Given the description of an element on the screen output the (x, y) to click on. 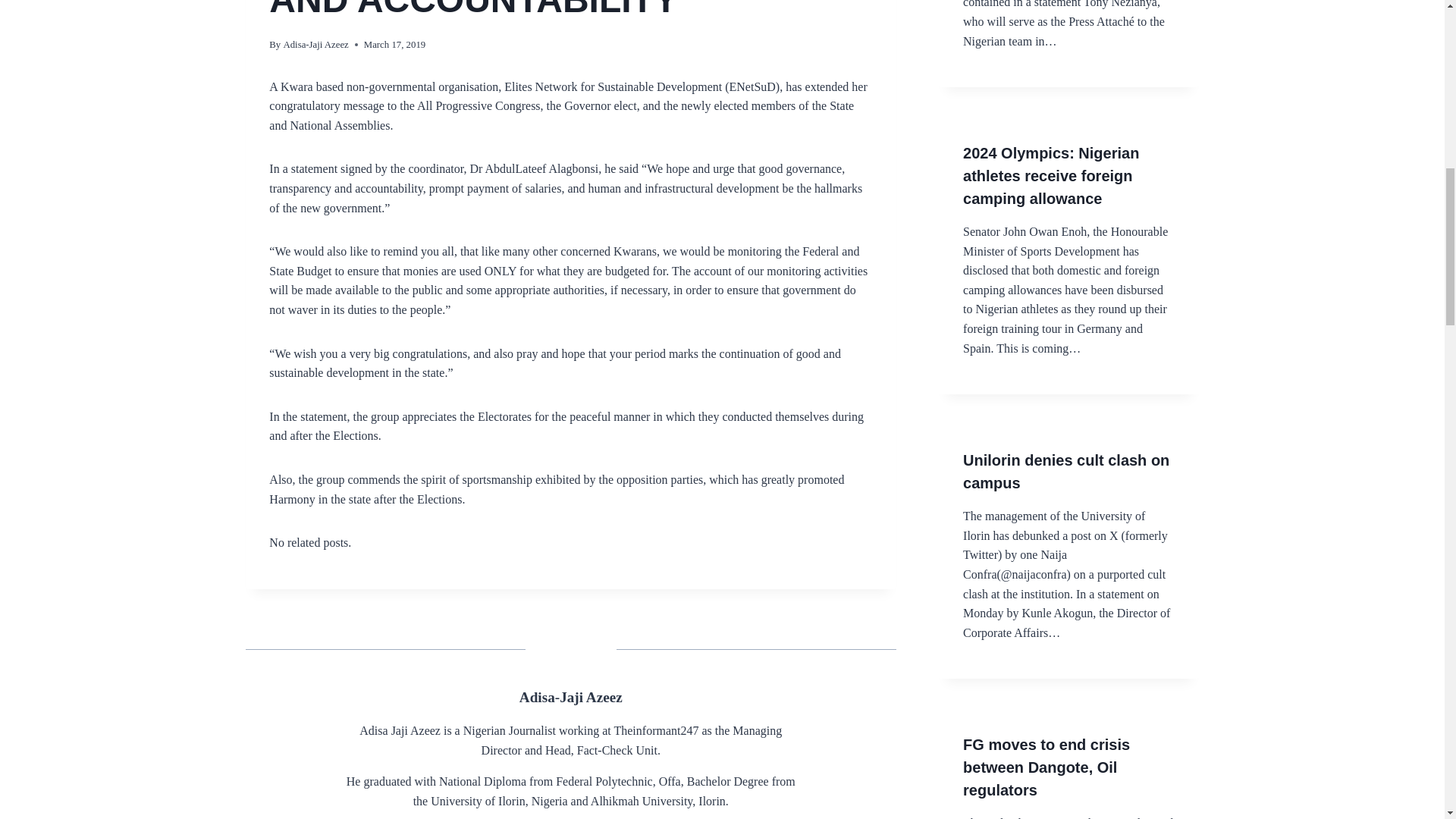
Adisa-Jaji Azeez (571, 697)
Adisa-Jaji Azeez (314, 44)
Posts by Adisa-Jaji Azeez (571, 697)
